Given the description of an element on the screen output the (x, y) to click on. 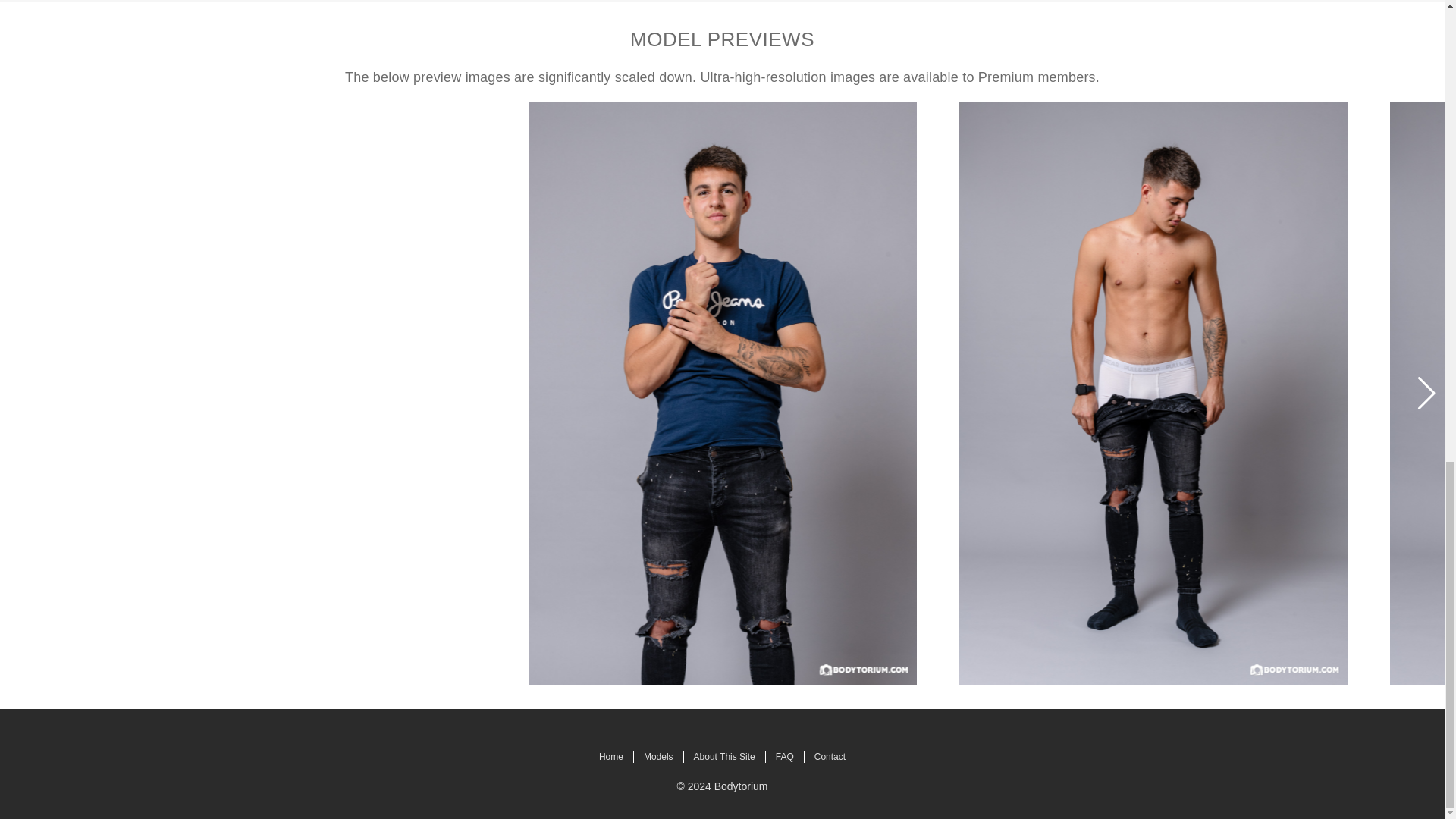
Home (611, 756)
About This Site (724, 756)
FAQ (784, 756)
Models (657, 756)
Contact (830, 756)
